Given the description of an element on the screen output the (x, y) to click on. 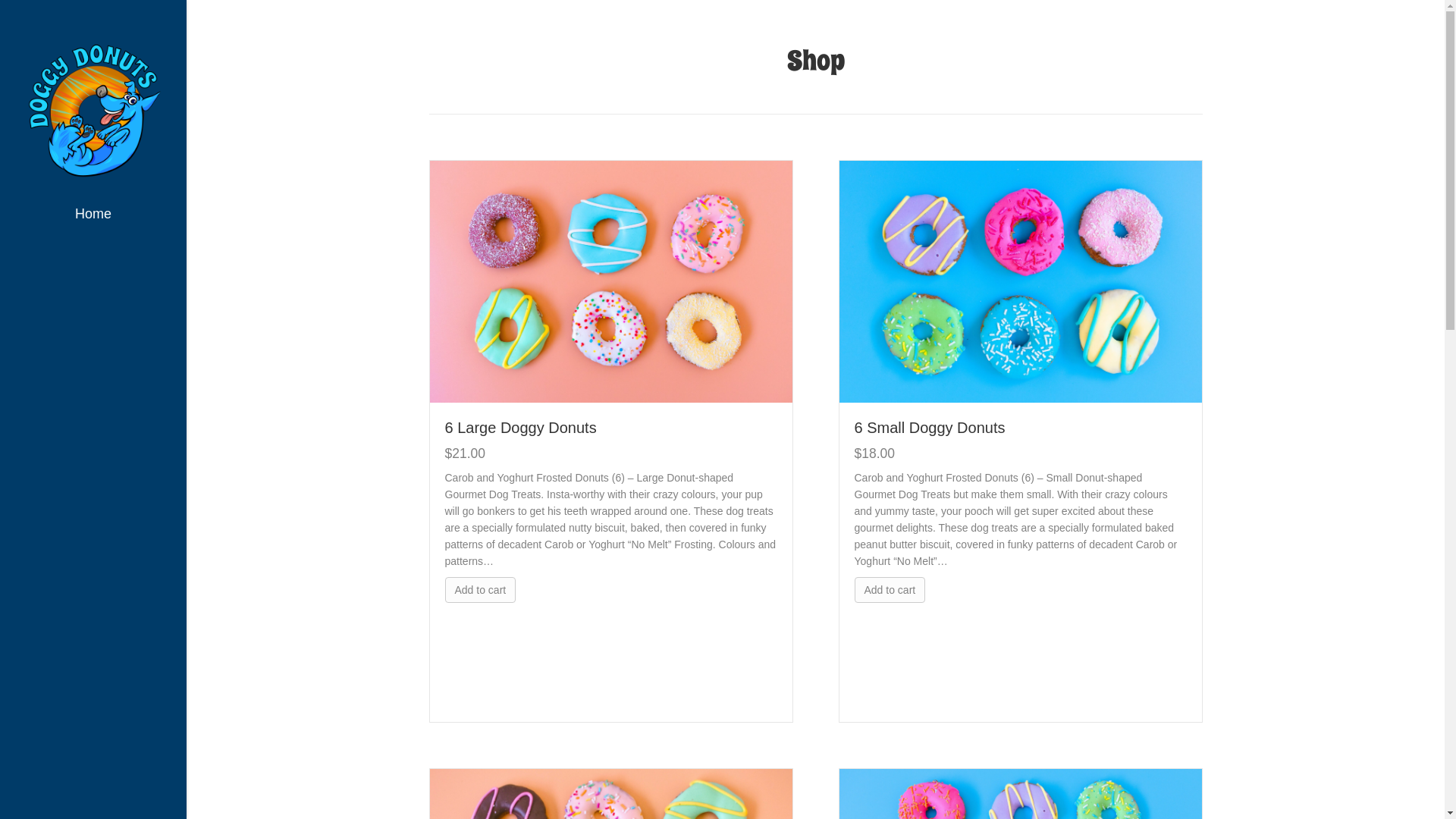
6 Small Doggy Donuts Element type: text (928, 427)
6 Large Doggy Donuts Element type: text (520, 427)
6 Large Doggy Donuts Element type: hover (610, 280)
Home Element type: text (93, 218)
6 Small Doggy Donuts Element type: hover (1019, 280)
Add to cart Element type: text (889, 589)
Add to cart Element type: text (479, 589)
